Given the description of an element on the screen output the (x, y) to click on. 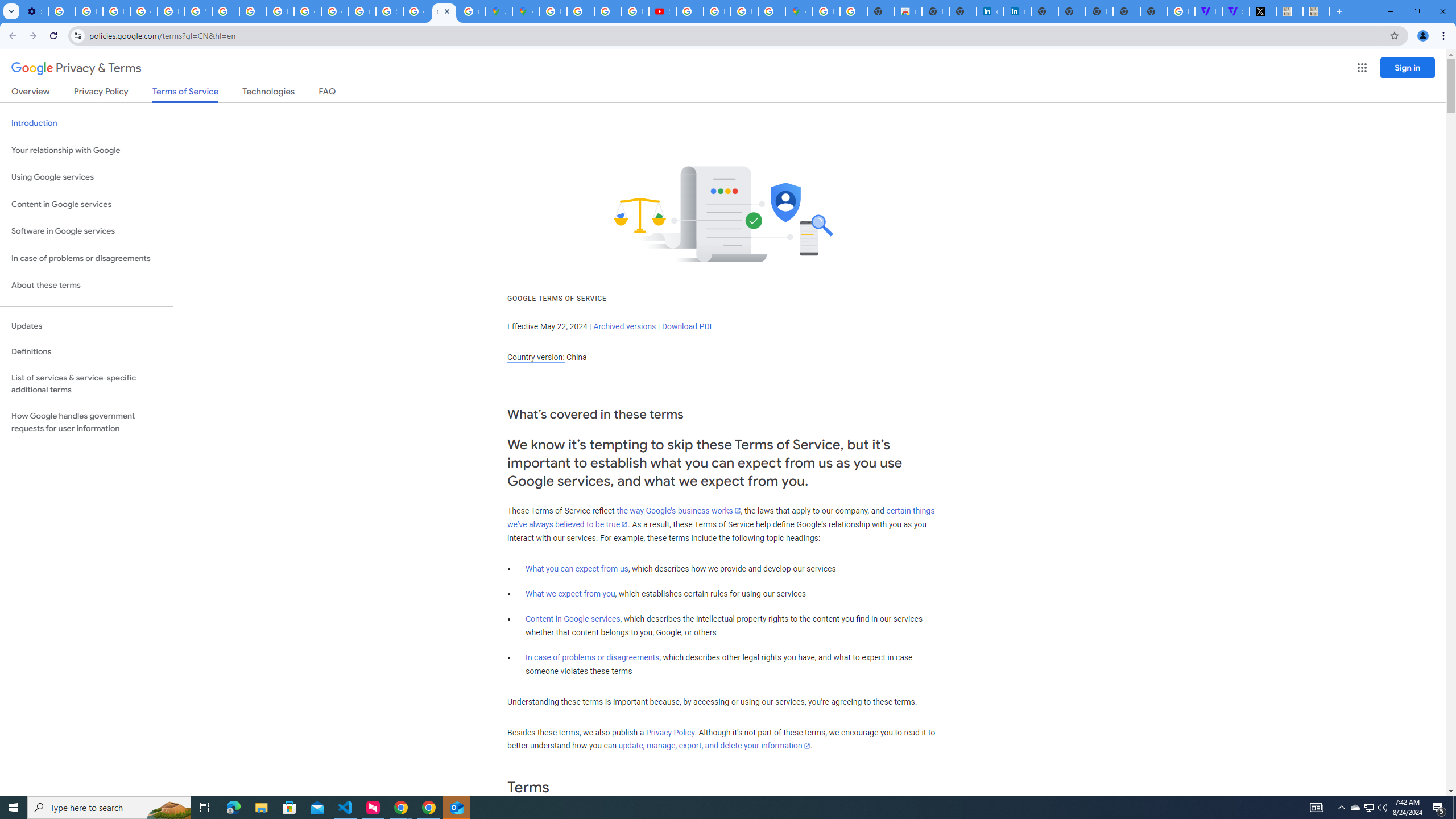
YouTube (197, 11)
Settings - Customize profile (34, 11)
MILEY CYRUS. (1289, 11)
Privacy Help Center - Policies Help (607, 11)
Miley Cyrus (@MileyCyrus) / X (1262, 11)
Using Google services (86, 176)
